Given the description of an element on the screen output the (x, y) to click on. 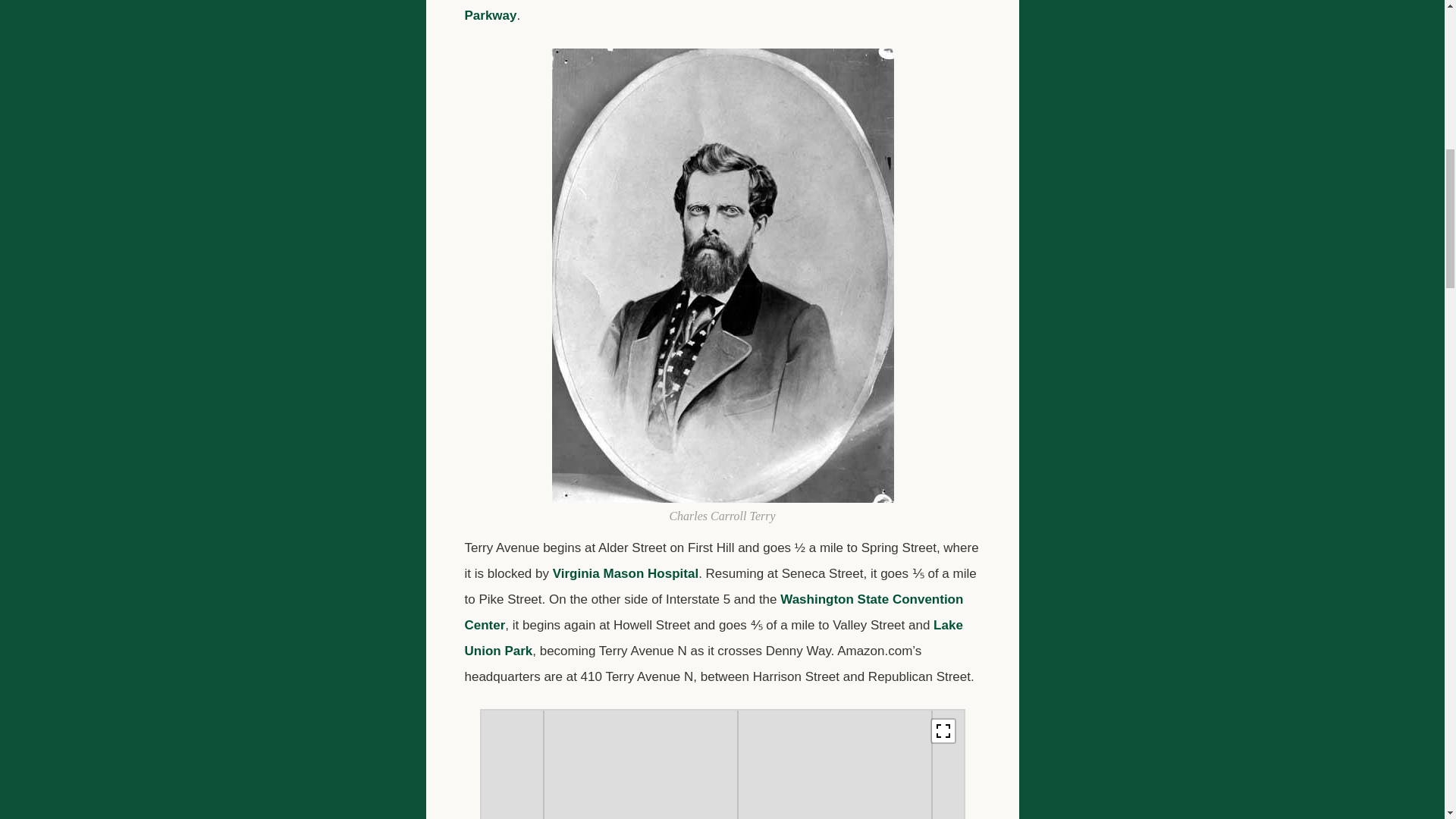
Lake Union Park (713, 638)
Virginia Mason Hospital (625, 573)
Washington State Convention Center (713, 612)
NE Campus Parkway (709, 11)
